Given the description of an element on the screen output the (x, y) to click on. 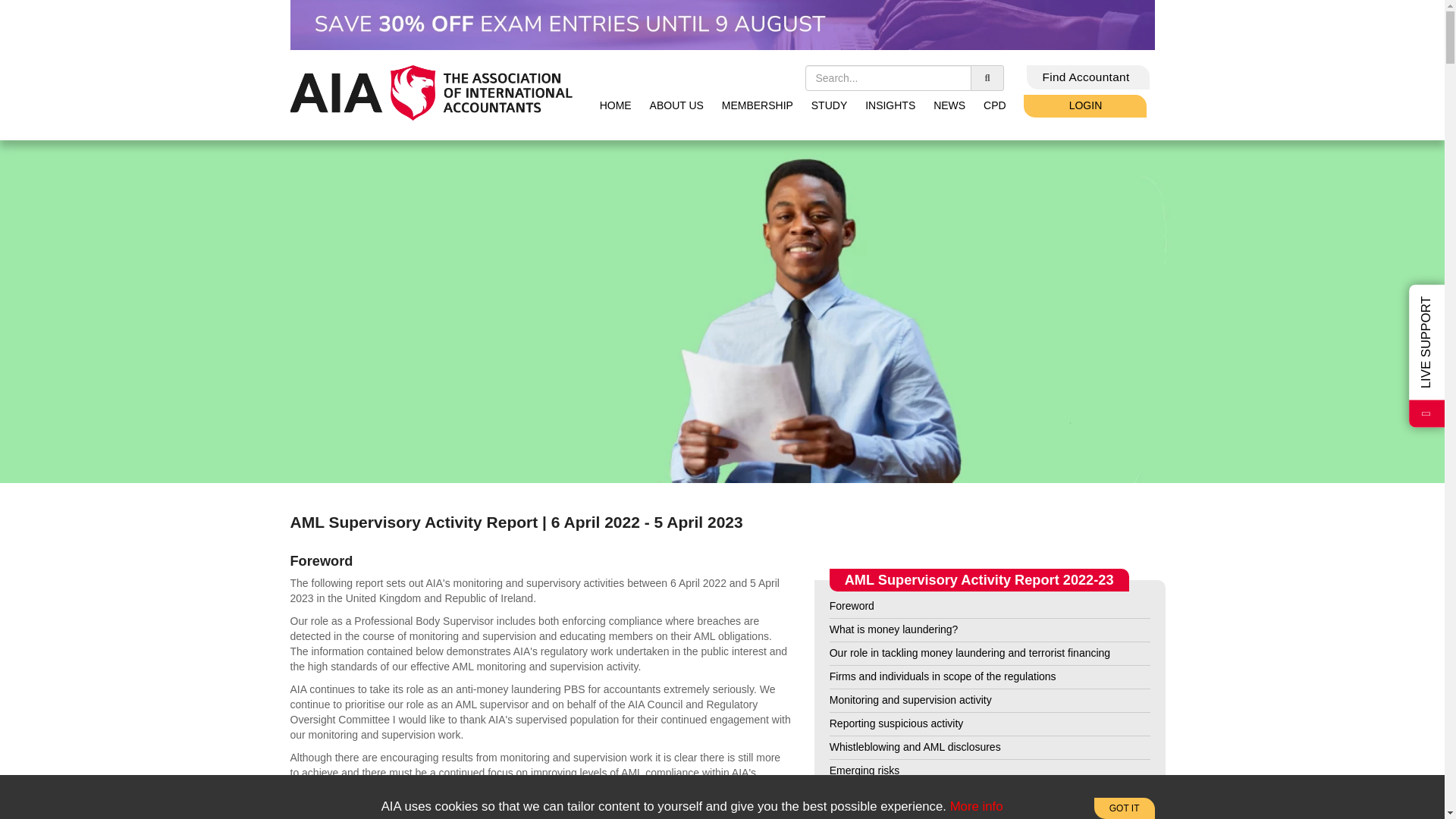
GOT IT (1124, 808)
More info (976, 806)
HOME (615, 105)
ABOUT US (676, 105)
Find Accountant (1088, 77)
MEMBERSHIP (757, 105)
